Given the description of an element on the screen output the (x, y) to click on. 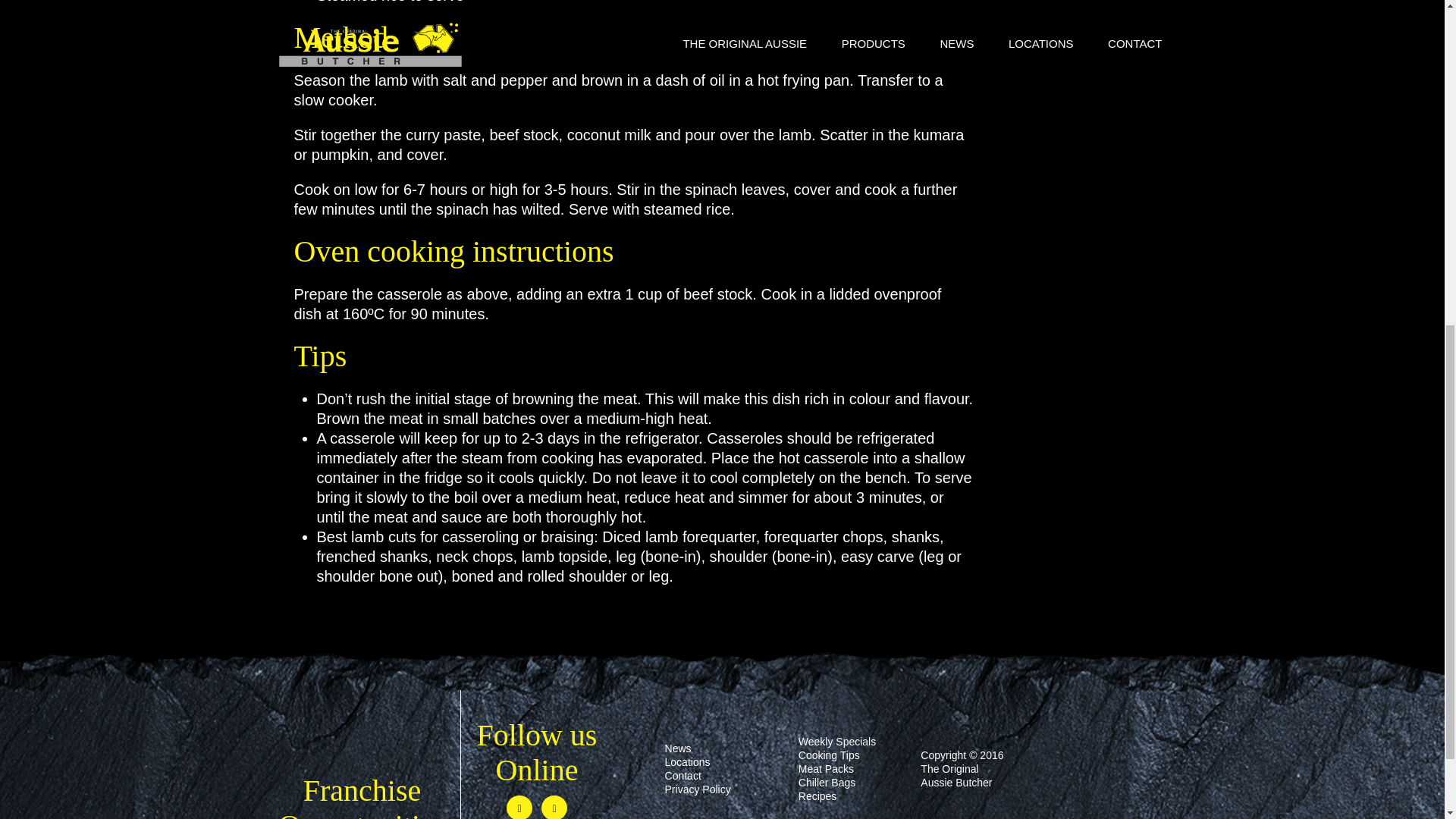
News (678, 748)
Privacy Policy (697, 788)
Weekly Specials (836, 741)
Recipes (817, 796)
Chiller Bags (826, 782)
Contact (683, 775)
Locations (687, 761)
Cooking Tips (828, 755)
Meat Packs (825, 768)
